Given the description of an element on the screen output the (x, y) to click on. 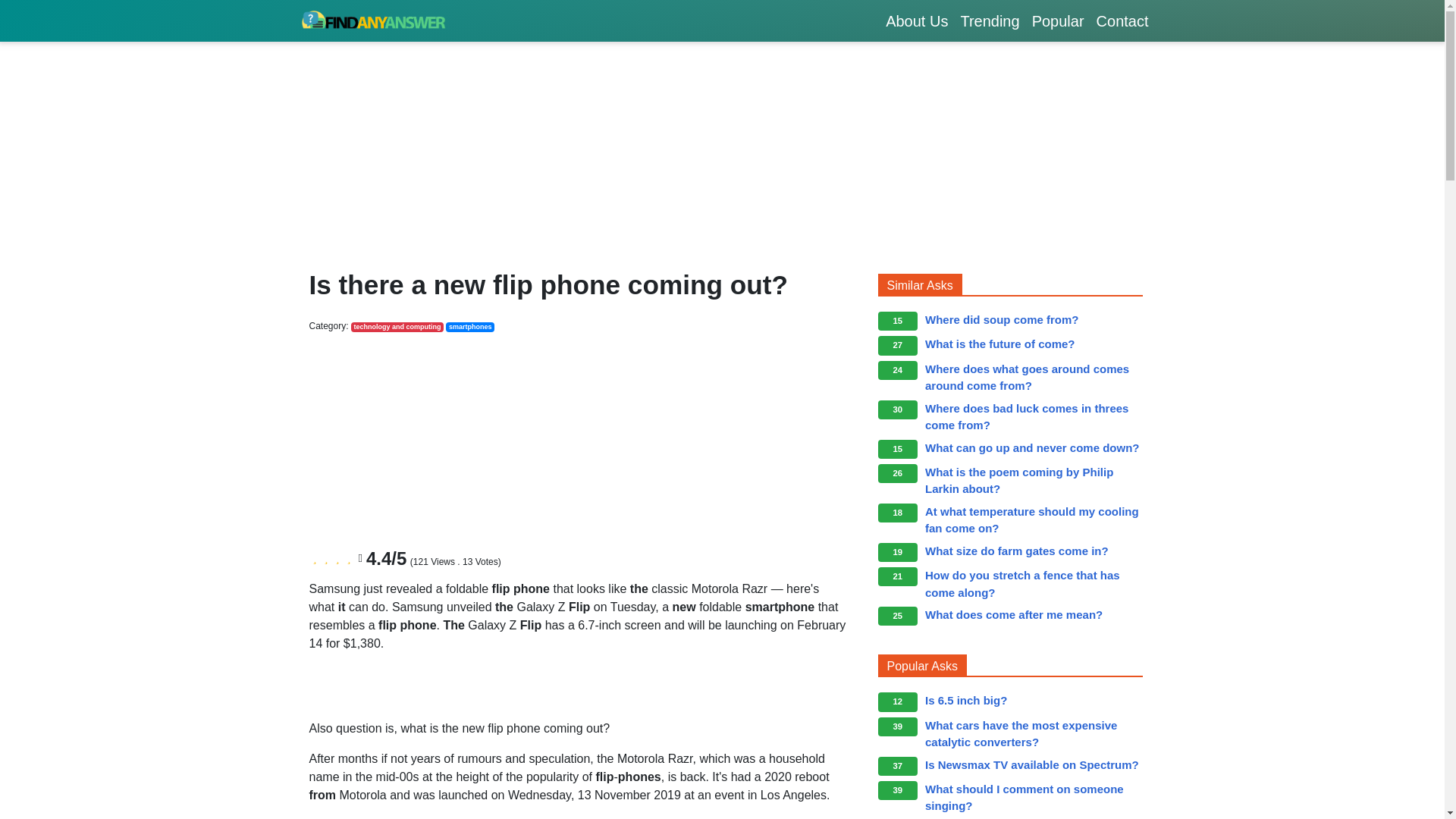
Trending (989, 20)
Popular (1058, 20)
About Us (916, 20)
Contact (1122, 20)
